Given the description of an element on the screen output the (x, y) to click on. 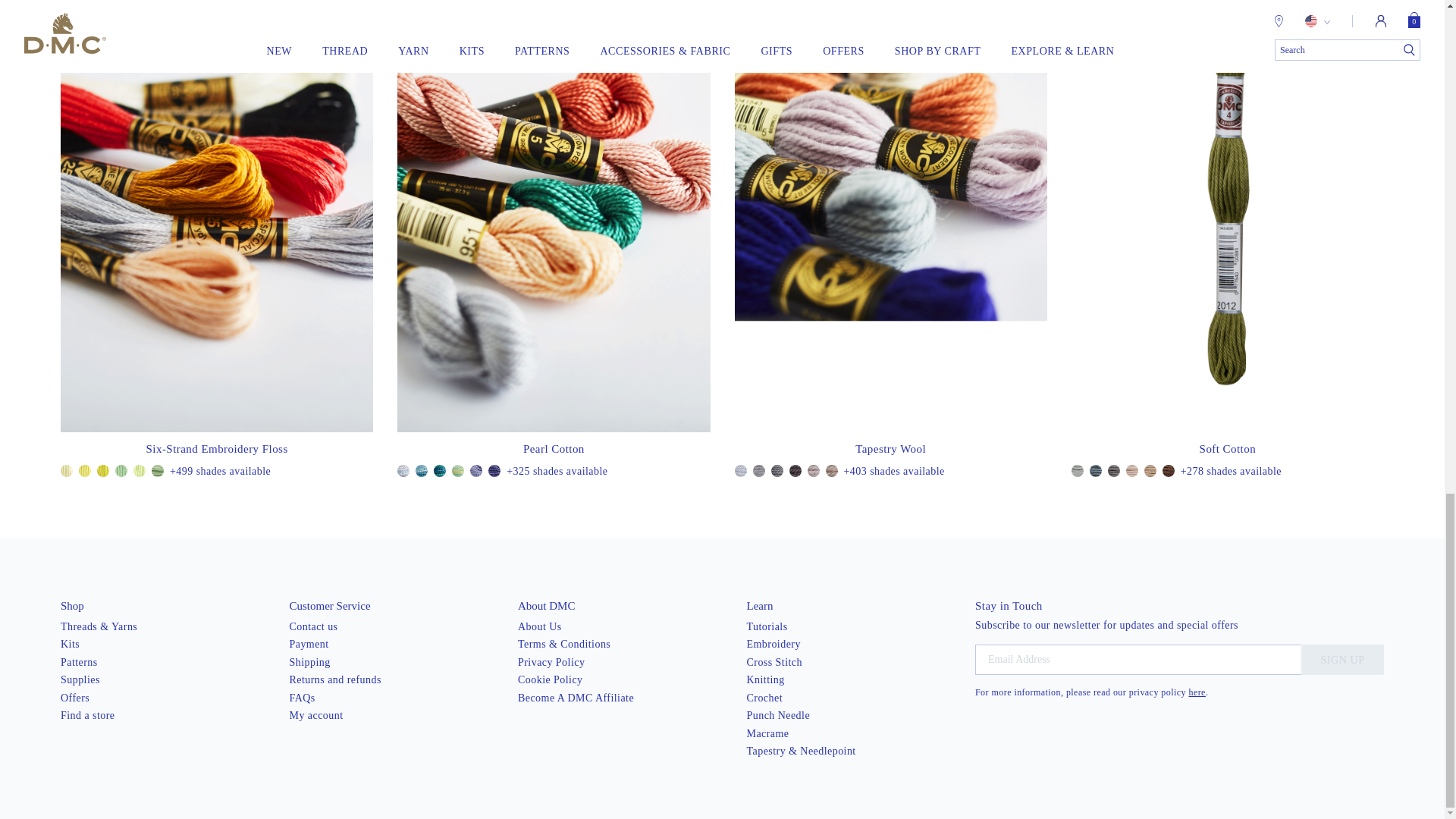
Six-Strand Embroidery Floss (217, 449)
Tapestry Wool (891, 449)
Pearl Cotton (553, 449)
Soft Cotton (1227, 449)
